Given the description of an element on the screen output the (x, y) to click on. 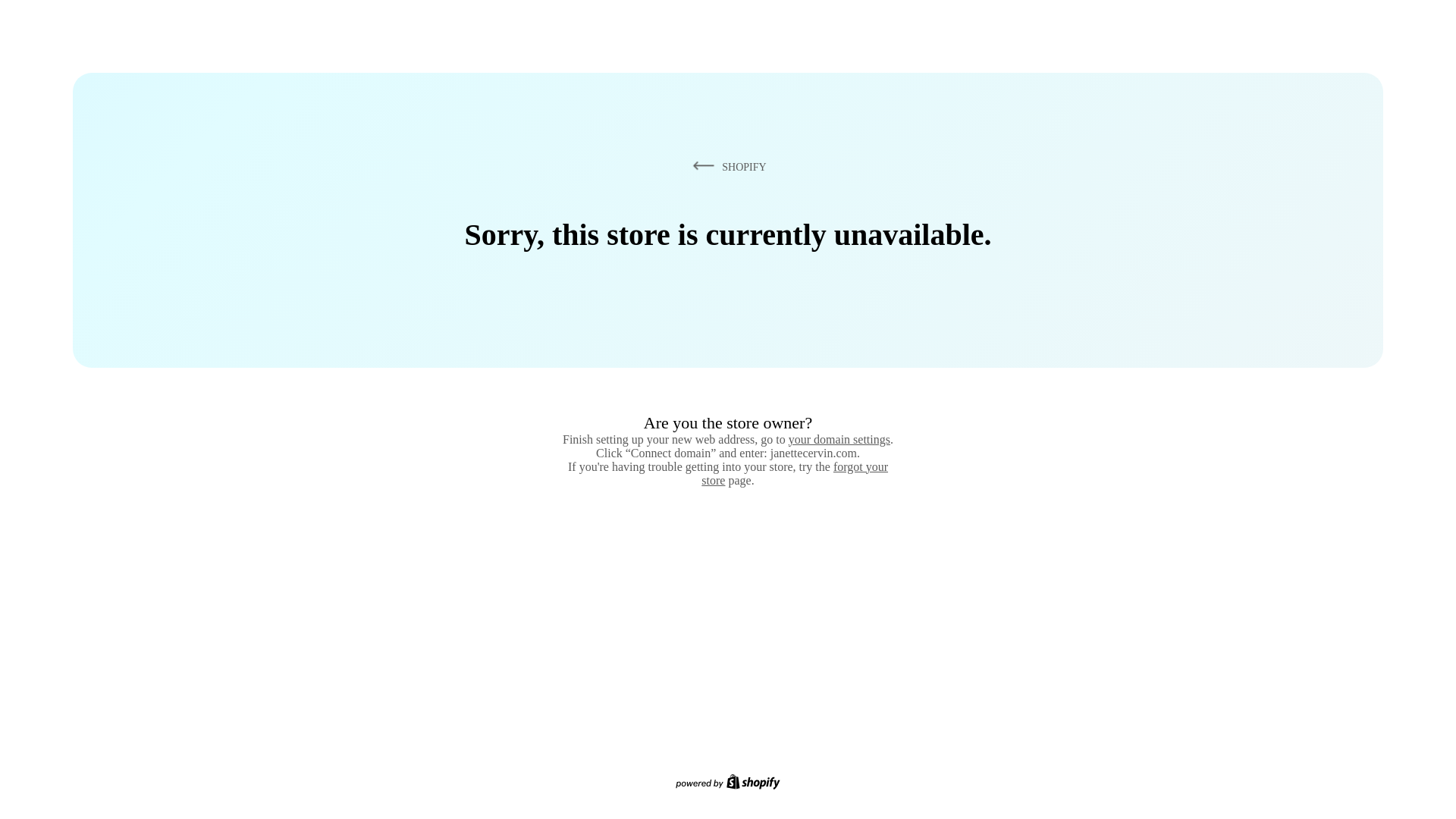
forgot your store (794, 473)
SHOPIFY (726, 166)
your domain settings (839, 439)
